Given the description of an element on the screen output the (x, y) to click on. 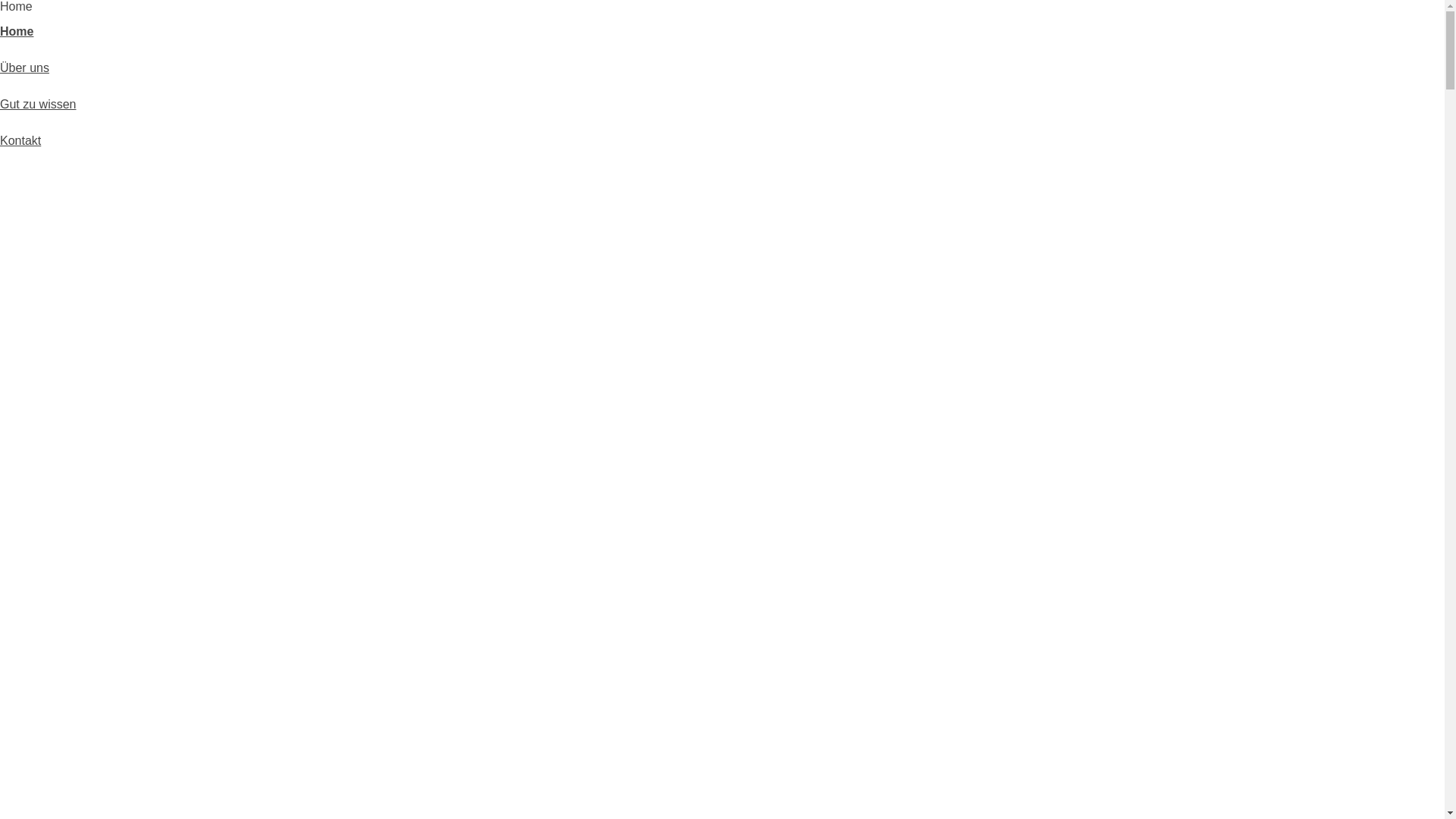
Home Element type: text (16, 31)
Kontakt Element type: text (20, 140)
Gut zu wissen Element type: text (37, 103)
